Given the description of an element on the screen output the (x, y) to click on. 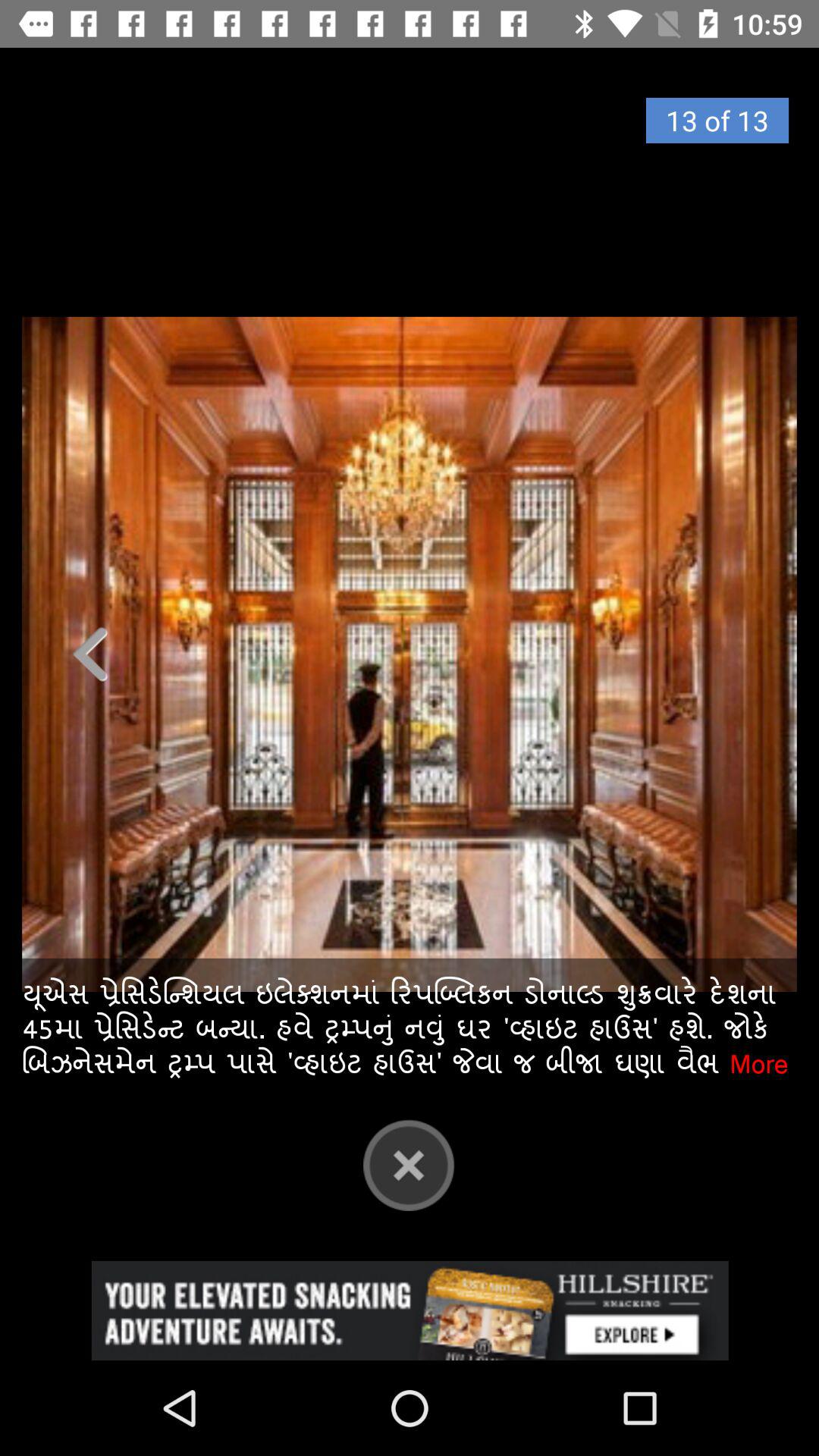
body (409, 653)
